Given the description of an element on the screen output the (x, y) to click on. 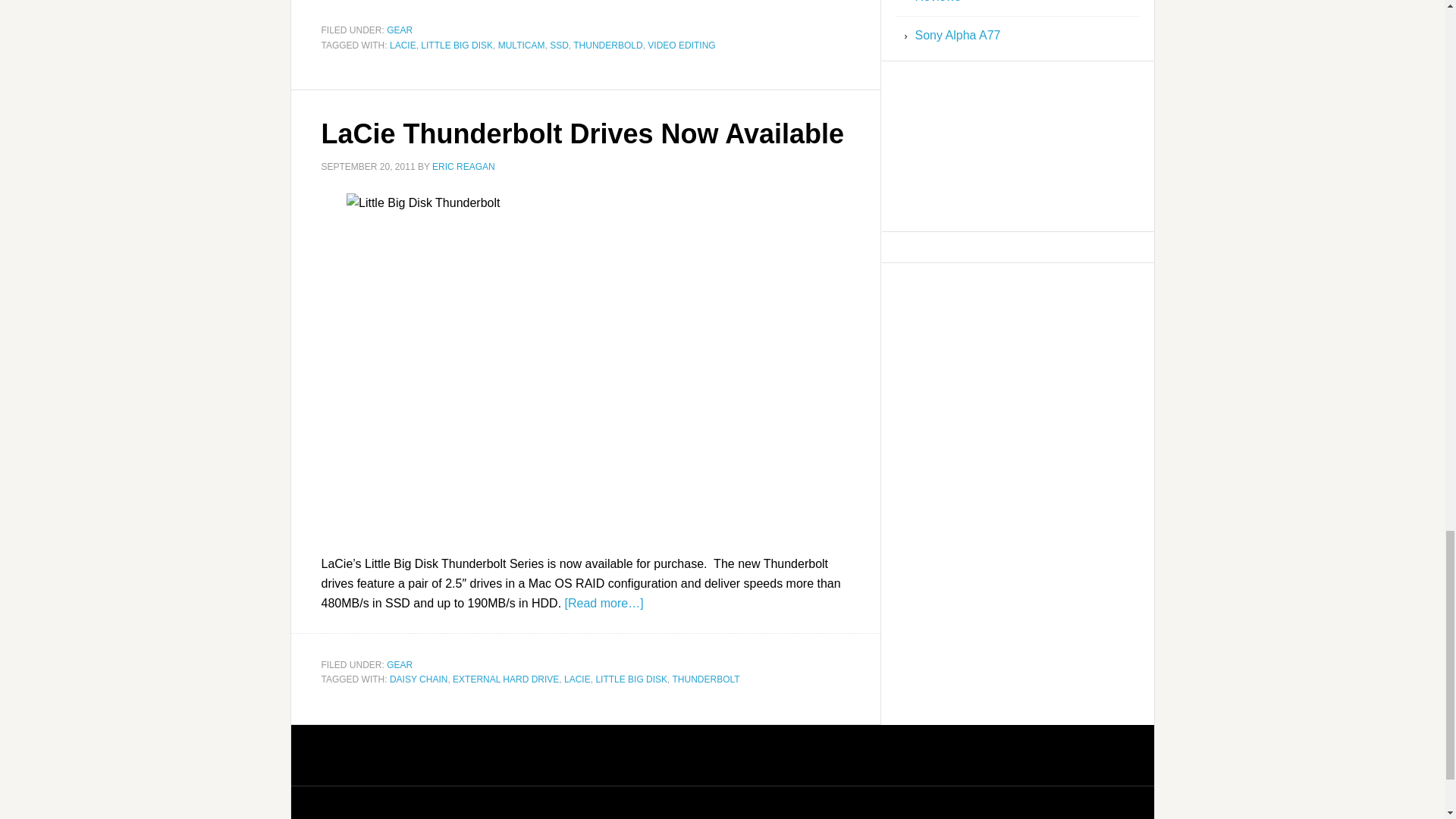
EXTERNAL HARD DRIVE (505, 679)
THUNDERBOLD (607, 44)
GEAR (399, 665)
LACIE (403, 44)
ERIC REAGAN (463, 166)
SSD (559, 44)
DAISY CHAIN (418, 679)
THUNDERBOLT (705, 679)
LITTLE BIG DISK (456, 44)
GEAR (399, 30)
